Given the description of an element on the screen output the (x, y) to click on. 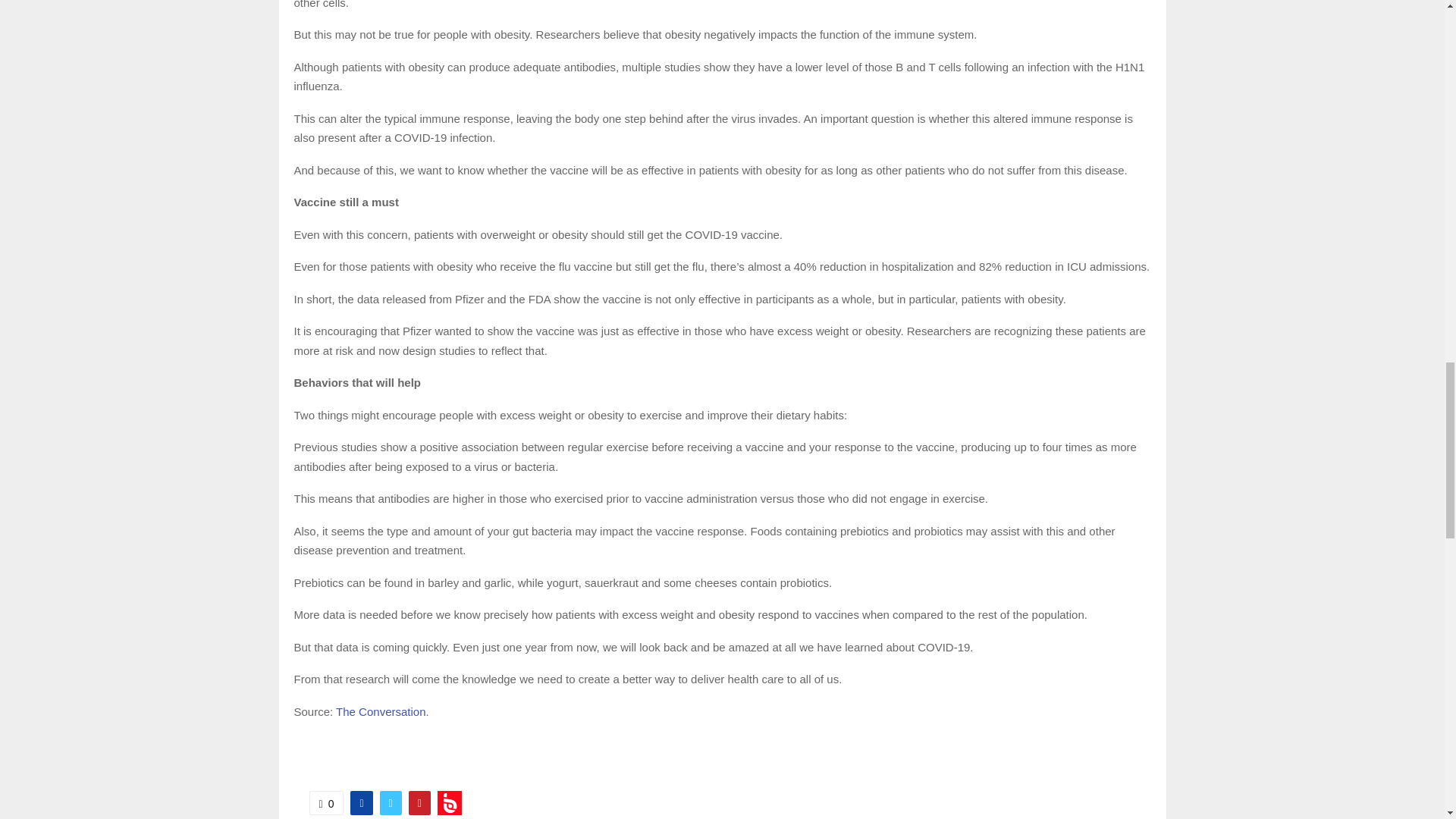
0 (325, 802)
The Conversation (380, 711)
Like (325, 802)
